Given the description of an element on the screen output the (x, y) to click on. 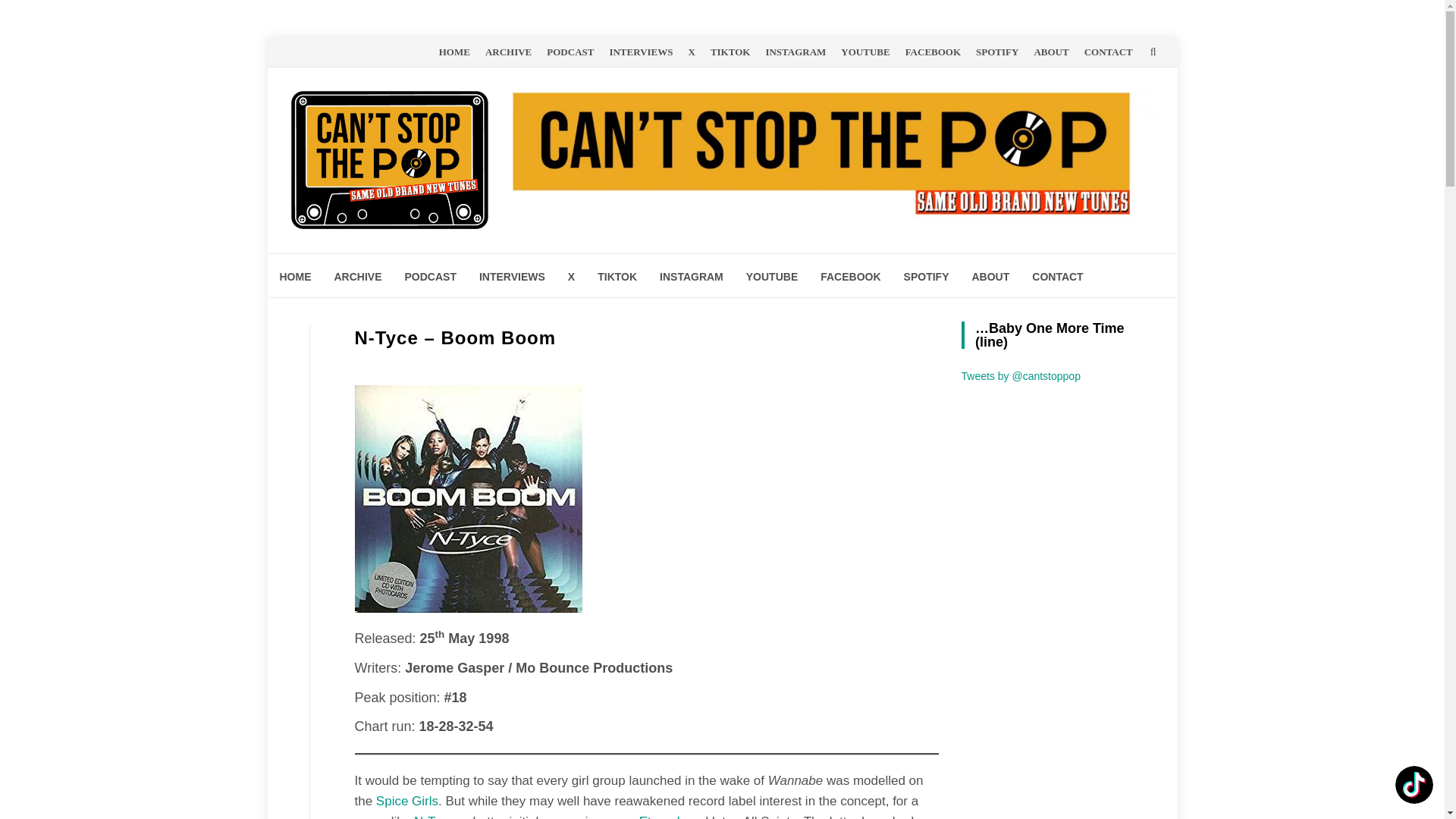
HOME (295, 275)
N-Tyce (433, 816)
SPOTIFY (926, 275)
TIKTOK (616, 275)
FACEBOOK (932, 51)
CONTACT (1057, 275)
ARCHIVE (507, 51)
ARCHIVE (358, 275)
